Given the description of an element on the screen output the (x, y) to click on. 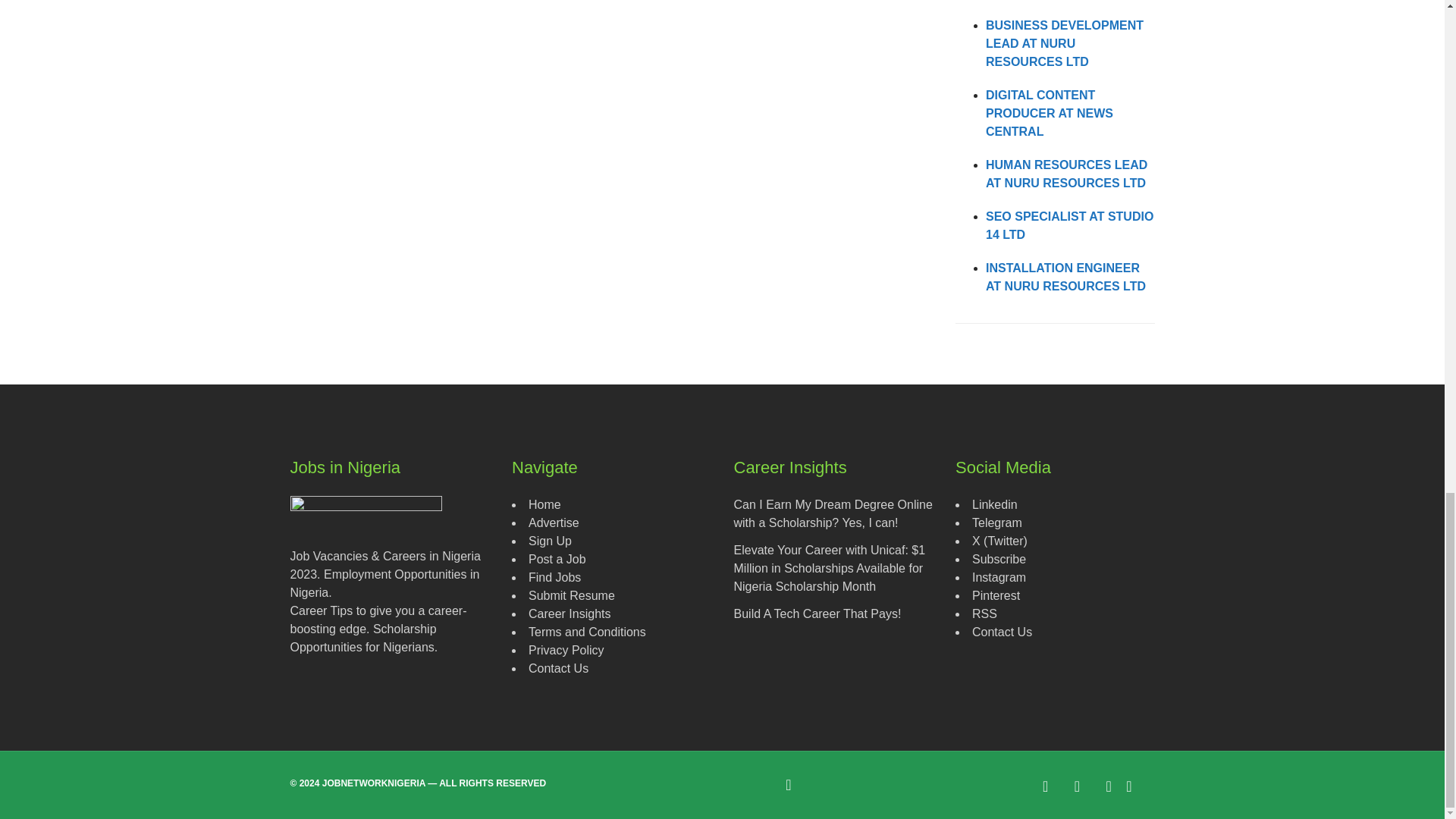
BUSINESS DEVELOPMENT LEAD AT NURU RESOURCES LTD (1063, 42)
DIGITAL CONTENT PRODUCER AT NEWS CENTRAL (1049, 113)
HUMAN RESOURCES LEAD AT NURU RESOURCES LTD (1066, 173)
SEO SPECIALIST AT STUDIO 14 LTD (1069, 224)
Home (544, 504)
INSTALLATION ENGINEER AT NURU RESOURCES LTD (1065, 276)
